Given the description of an element on the screen output the (x, y) to click on. 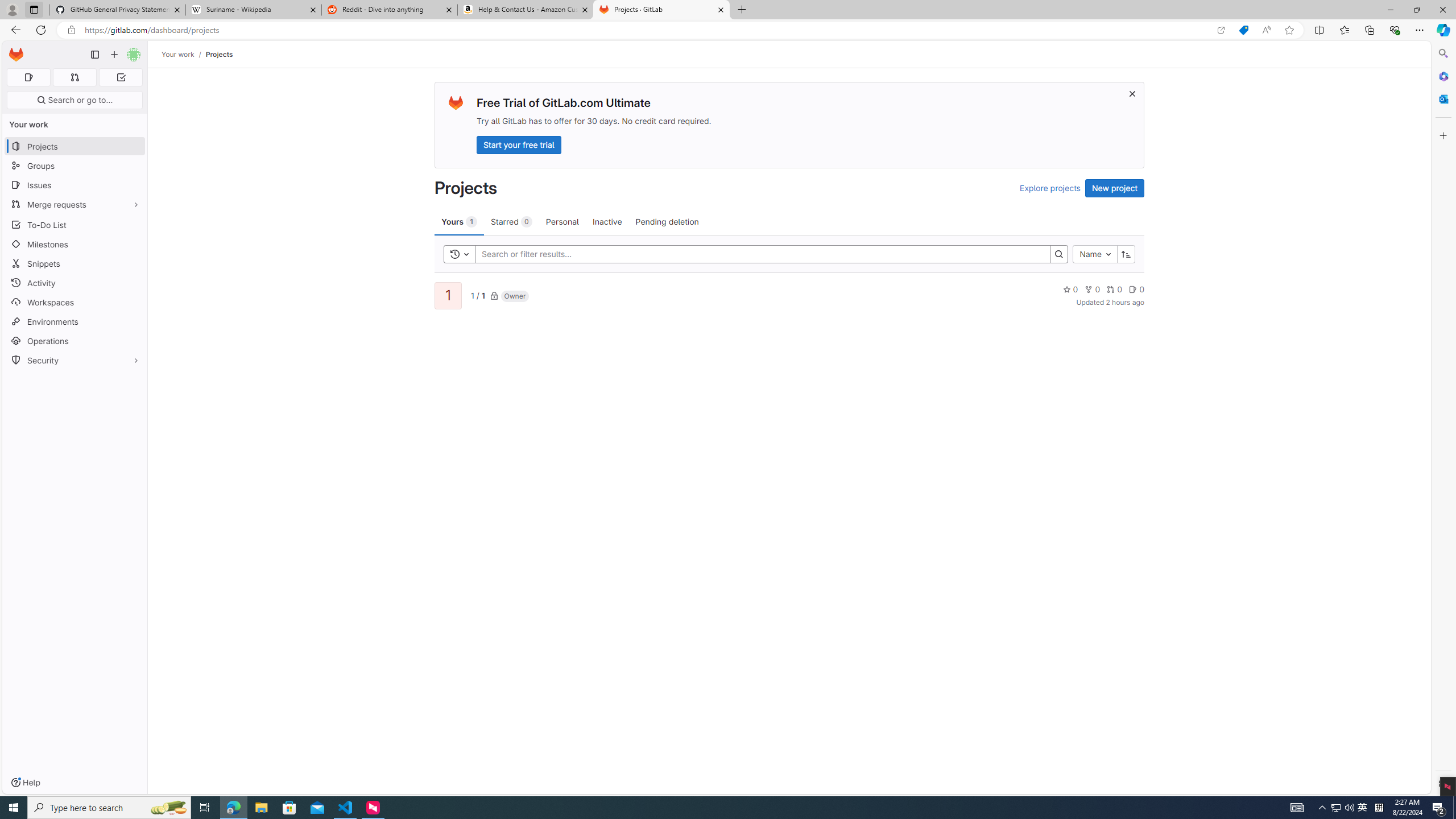
GitHub General Privacy Statement - GitHub Docs (117, 9)
Operations (74, 340)
Start your free trial (519, 144)
Toggle history (460, 253)
New project (1114, 187)
Security (74, 359)
1 / 1 (477, 294)
